Given the description of an element on the screen output the (x, y) to click on. 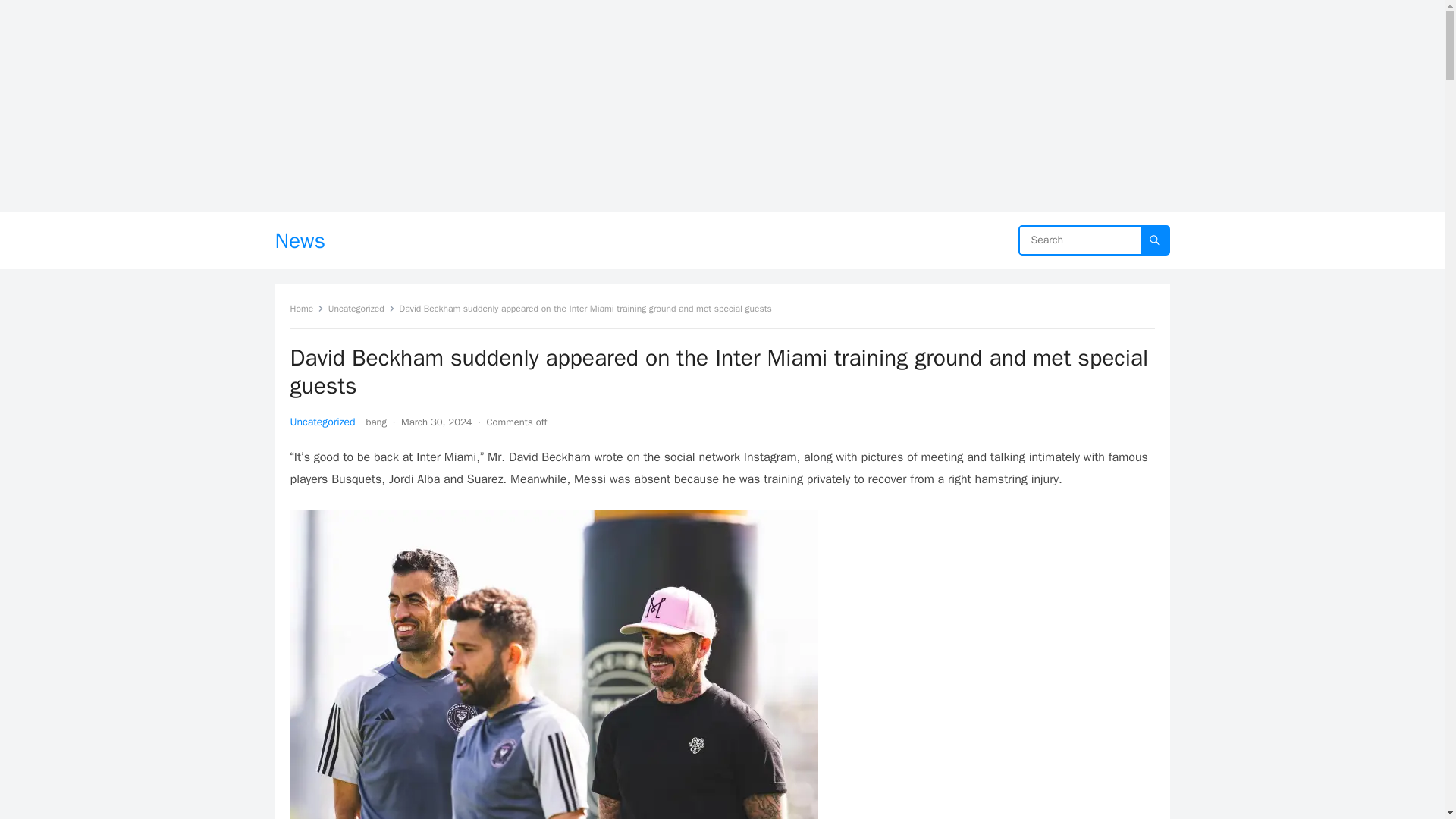
Posts by bang (376, 421)
News (299, 240)
